Given the description of an element on the screen output the (x, y) to click on. 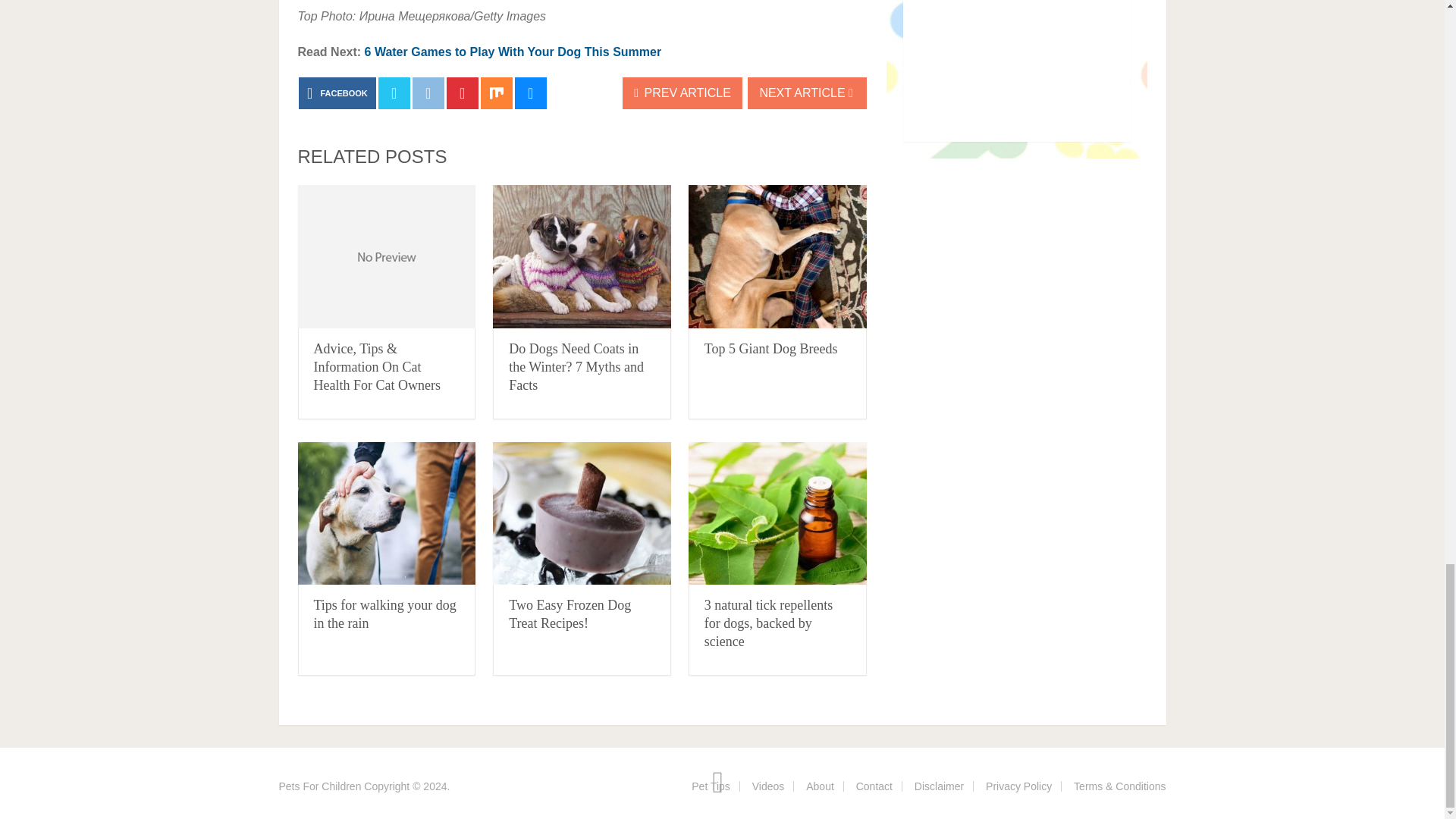
NEXT ARTICLE (807, 92)
Top 5 Giant Dog Breeds (777, 256)
6 Water Games to Play With Your Dog This Summer (513, 51)
Do Dogs Need Coats in the Winter? 7 Myths and Facts (582, 256)
Top 5 Giant Dog Breeds (771, 348)
Do Dogs Need Coats in the Winter? 7 Myths and Facts (575, 367)
PREV ARTICLE (682, 92)
FACEBOOK (336, 92)
Do Dogs Need Coats in the Winter? 7 Myths and Facts (575, 367)
